Given the description of an element on the screen output the (x, y) to click on. 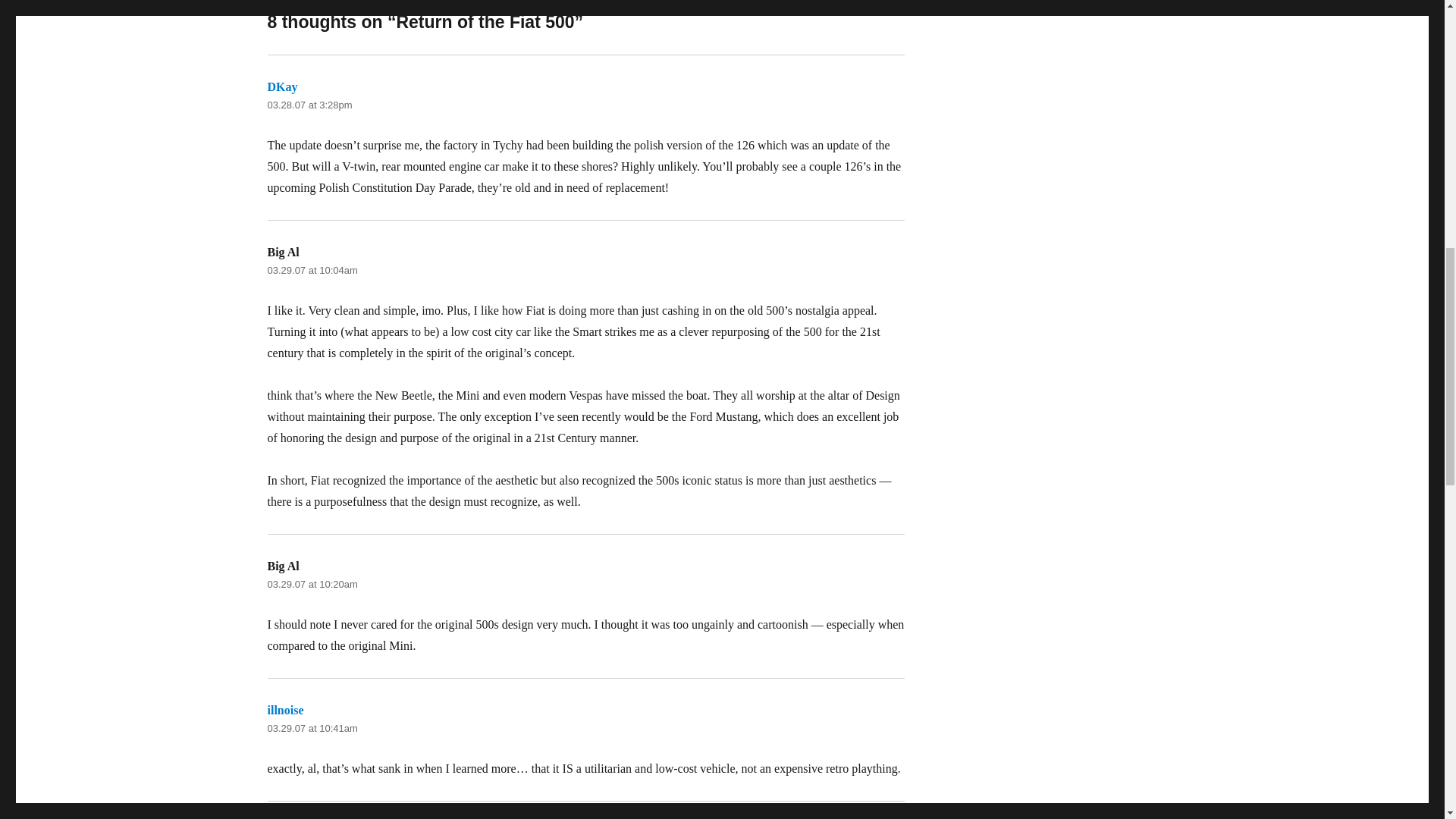
03.28.07 at 3:28pm (309, 104)
illnoise (284, 709)
03.29.07 at 10:20am (311, 583)
03.29.07 at 10:41am (311, 727)
03.29.07 at 10:04am (311, 270)
DKay (281, 86)
